Given the description of an element on the screen output the (x, y) to click on. 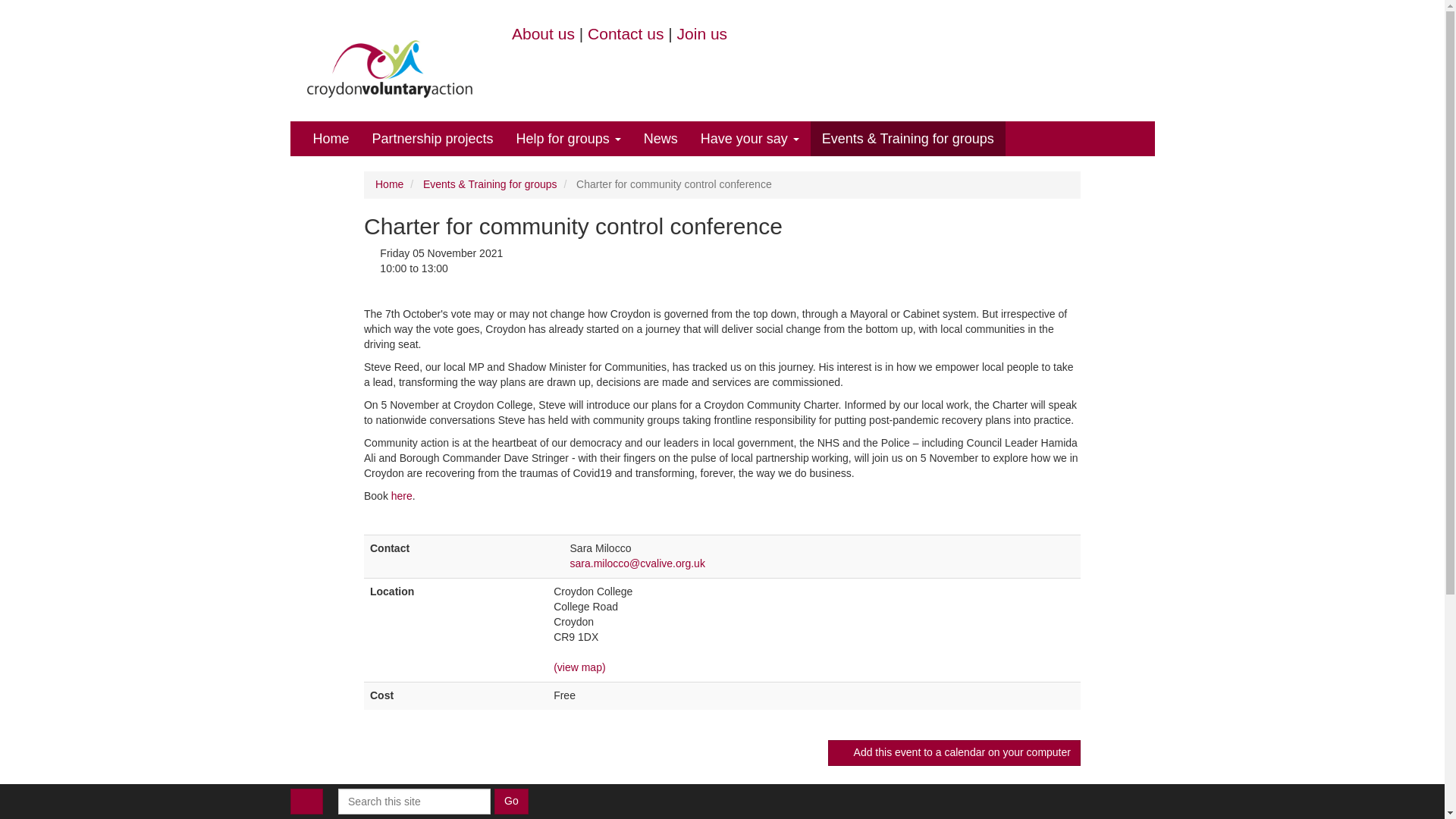
Have your say (749, 138)
Help for groups (568, 138)
Home (331, 138)
Contact name (560, 548)
Join us (702, 33)
Contact us (625, 33)
here (401, 495)
User menu (306, 801)
About us (543, 33)
Partnership projects (433, 138)
